Given the description of an element on the screen output the (x, y) to click on. 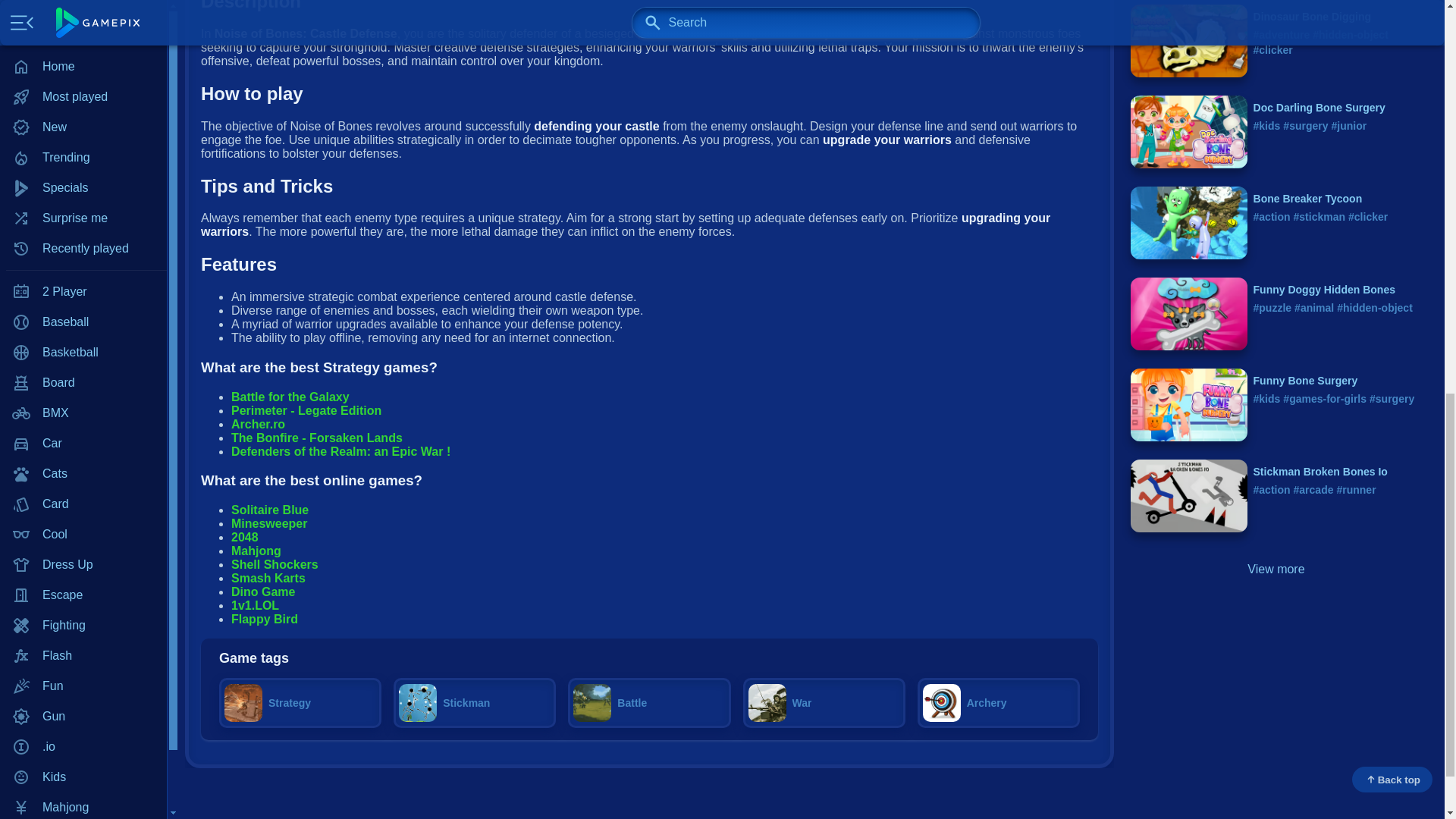
Racing (83, 140)
Mario (83, 19)
Poker (83, 79)
Soccer (83, 291)
Zombie (83, 382)
Snake (83, 261)
Puzzle (83, 110)
Math (83, 49)
Mahjong (83, 2)
War (83, 322)
Shooter (83, 200)
RPG (83, 170)
Word (83, 352)
Solitaire (83, 231)
